Given the description of an element on the screen output the (x, y) to click on. 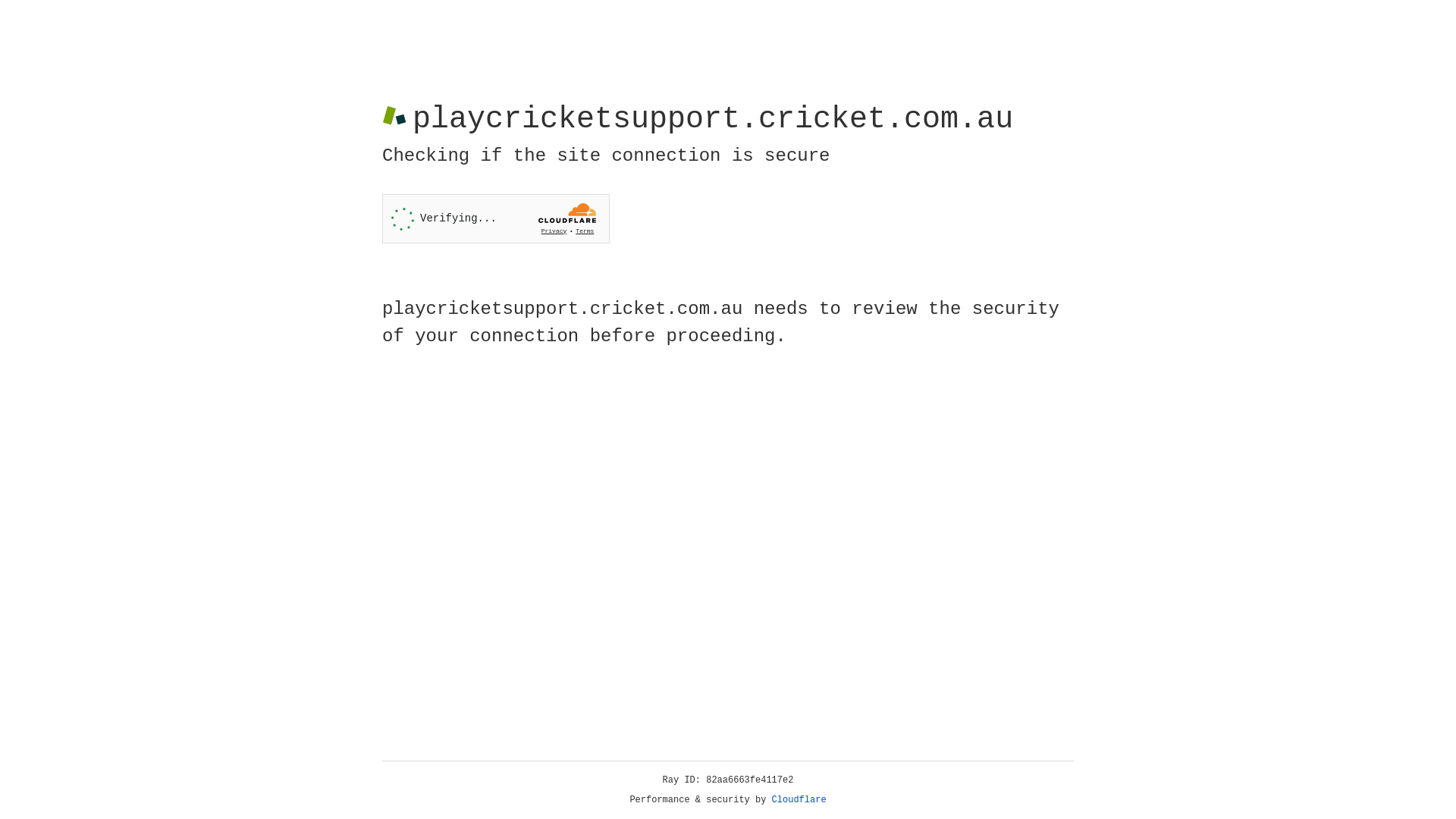
Cloudflare Element type: text (798, 799)
Widget containing a Cloudflare security challenge Element type: hover (495, 218)
